Given the description of an element on the screen output the (x, y) to click on. 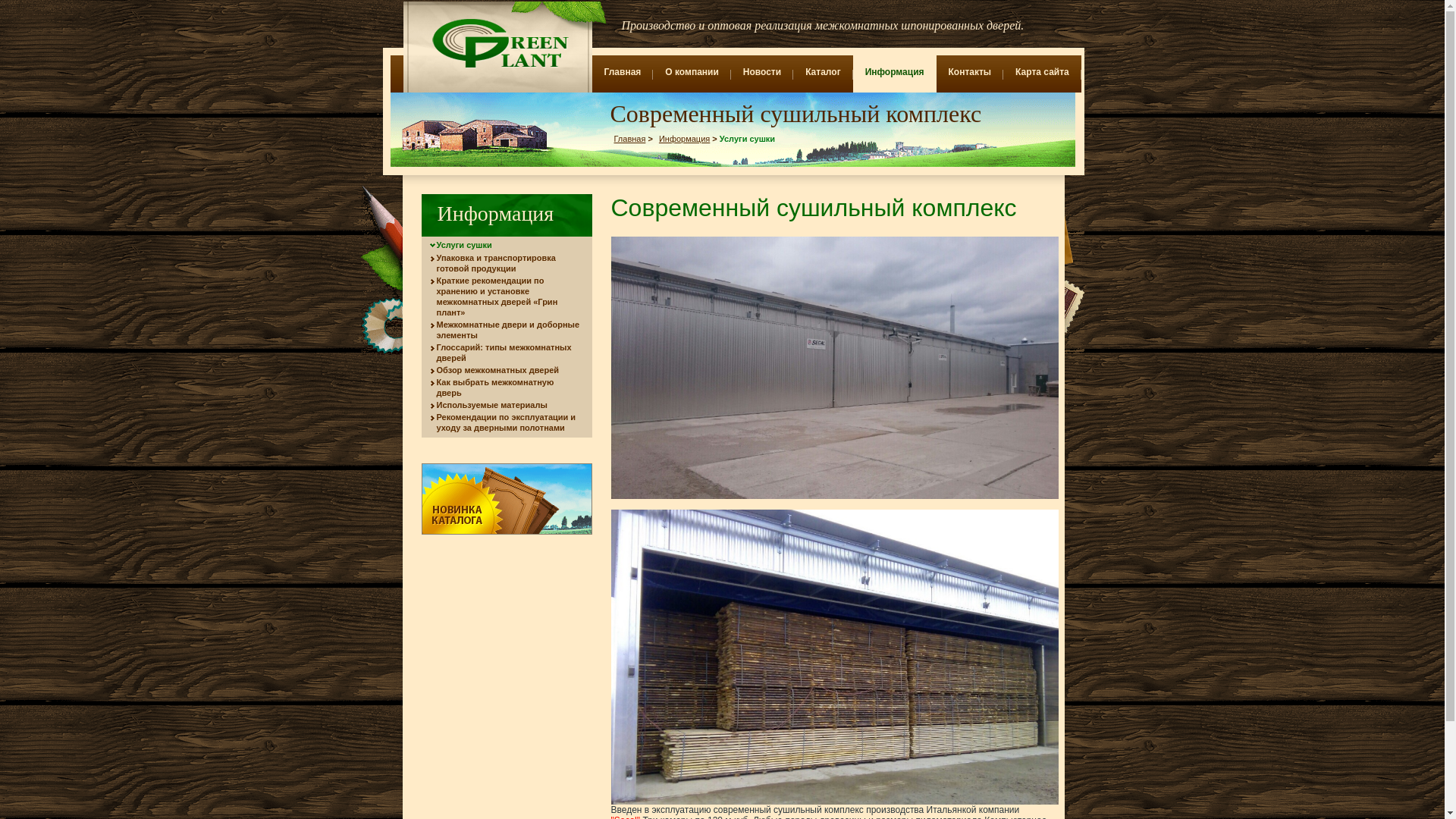
Green Plant Element type: text (497, 42)
